Given the description of an element on the screen output the (x, y) to click on. 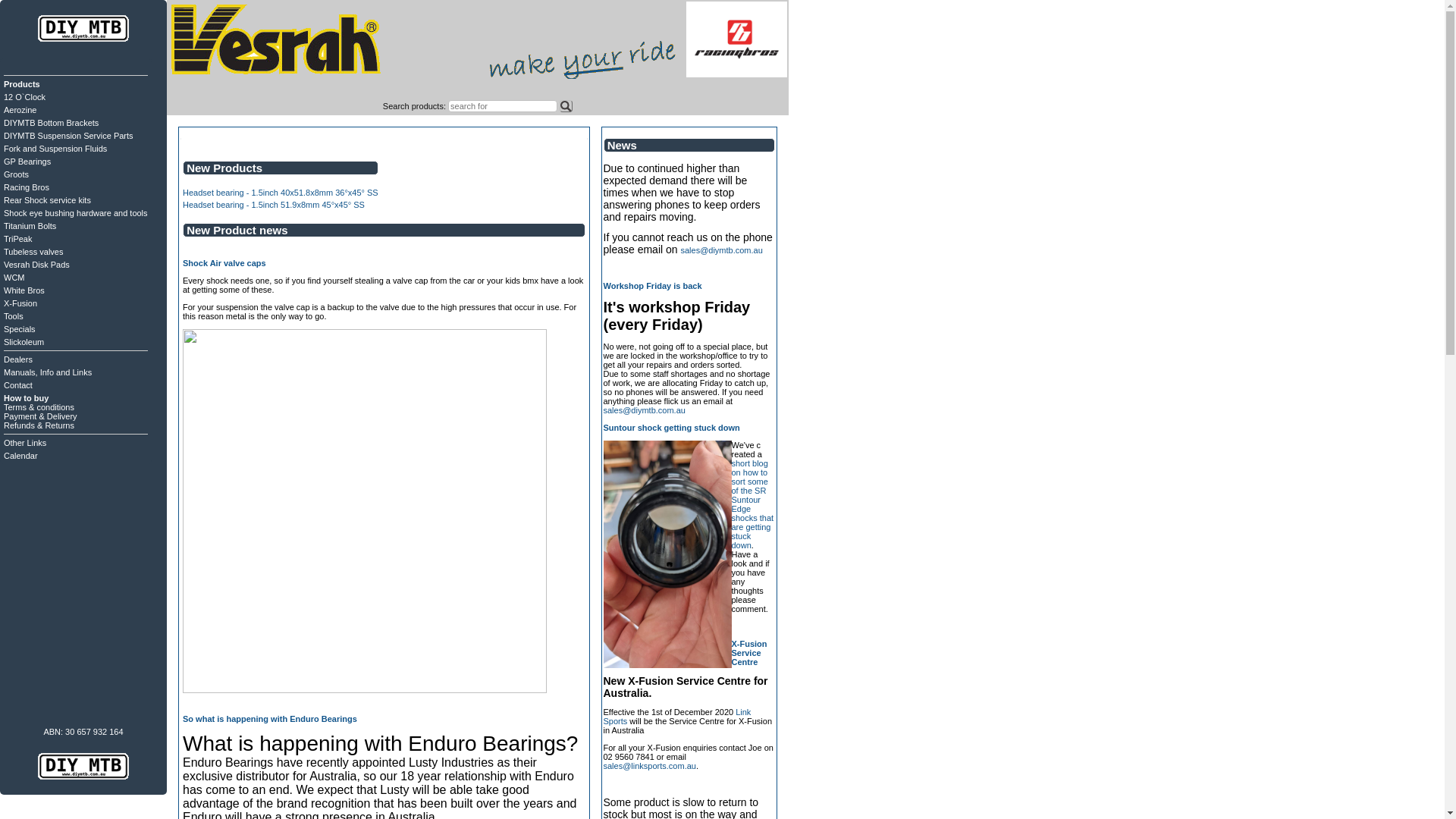
TriPeak Element type: text (17, 238)
X-Fusion Service Centre Element type: text (748, 652)
Slickoleum Element type: text (23, 341)
WCM Element type: text (14, 277)
Vesrah Brake Pads Element type: hover (275, 91)
Rear Shock service kits Element type: text (47, 199)
Shock Air valve caps Element type: text (224, 262)
Tubeless valves Element type: text (32, 251)
Titanium Bolts Element type: text (29, 225)
X-Fusion Element type: text (20, 302)
Fork and Suspension Fluids Element type: text (54, 148)
GP Bearings Element type: text (26, 161)
DIYMTB Suspension Service Parts Element type: text (68, 135)
Groots Element type: text (15, 173)
Specials Element type: text (19, 328)
  Element type: text (565, 106)
Link Sports Element type: text (677, 716)
White Bros Element type: text (23, 289)
Manuals, Info and Links Element type: text (47, 371)
Vesrah Disk Pads Element type: text (36, 264)
DIYMTB Bottom Brackets Element type: text (50, 122)
Suntour shock getting stuck down Element type: text (671, 427)
Tools Element type: text (13, 315)
RacingBros Element type: hover (582, 59)
sales@diymtb.com.au Element type: text (644, 409)
Aerozine Element type: text (19, 109)
So what is happening with Enduro Bearings Element type: text (269, 718)
Racing Bros Element type: text (26, 186)
sales@linksports.com.au Element type: text (649, 765)
sales@diymtb.com.au Element type: text (721, 249)
Workshop Friday is back Element type: text (652, 285)
12 O`Clock Element type: text (24, 96)
Products Element type: text (21, 83)
Shock eye bushing hardware and tools Element type: text (75, 212)
Dealers Element type: text (17, 359)
Contact Element type: text (17, 384)
Other Links Element type: text (24, 442)
Calendar Element type: text (20, 455)
